Given the description of an element on the screen output the (x, y) to click on. 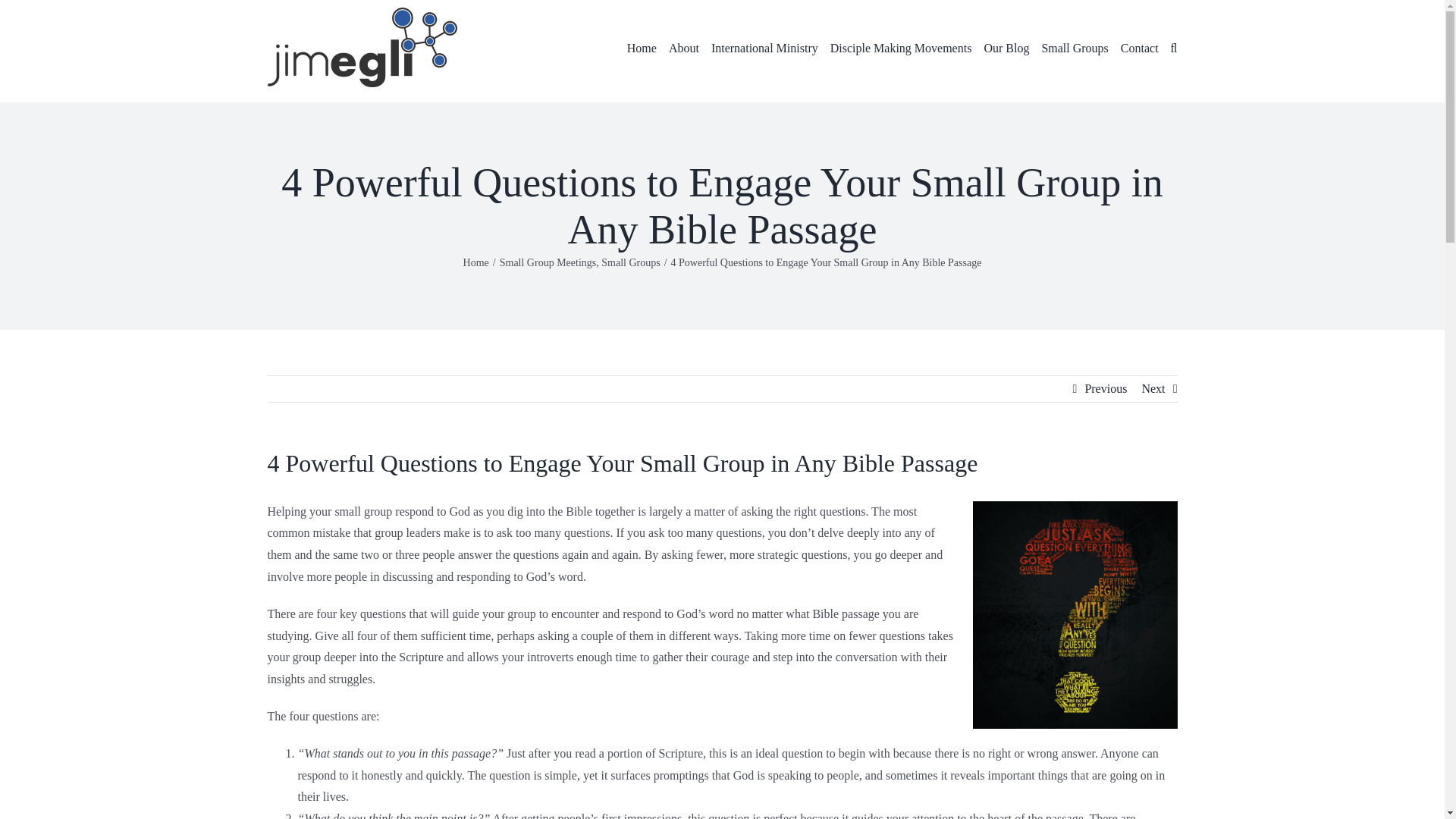
International Ministry (764, 47)
Disciple Making Movements (900, 47)
Previous (1105, 388)
Small Groups (630, 262)
Small Group Meetings (547, 262)
Next (1152, 388)
Home (476, 262)
